Given the description of an element on the screen output the (x, y) to click on. 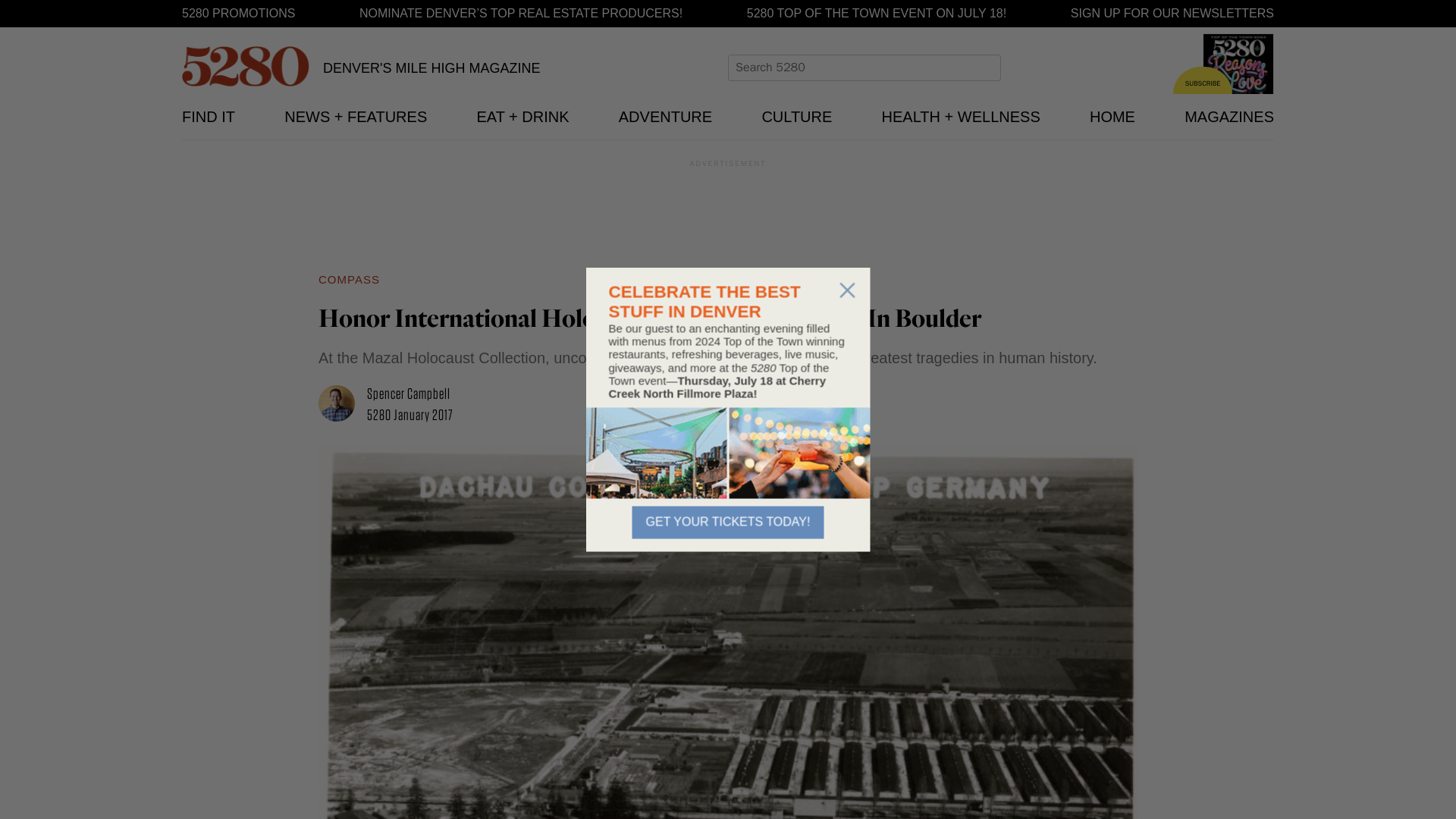
Subscribe Now (1238, 80)
SIGN UP FOR OUR NEWSLETTERS (1172, 13)
3rd party ad content (727, 210)
5280 TOP OF THE TOWN EVENT ON JULY 18! (876, 13)
5280 PROMOTIONS (238, 13)
SUBSCRIBE (1202, 80)
View Author Archive (342, 404)
Spencer Campbell's Archive (407, 393)
FIND IT (208, 116)
ADVENTURE (664, 116)
5280 Magazine (245, 65)
